Given the description of an element on the screen output the (x, y) to click on. 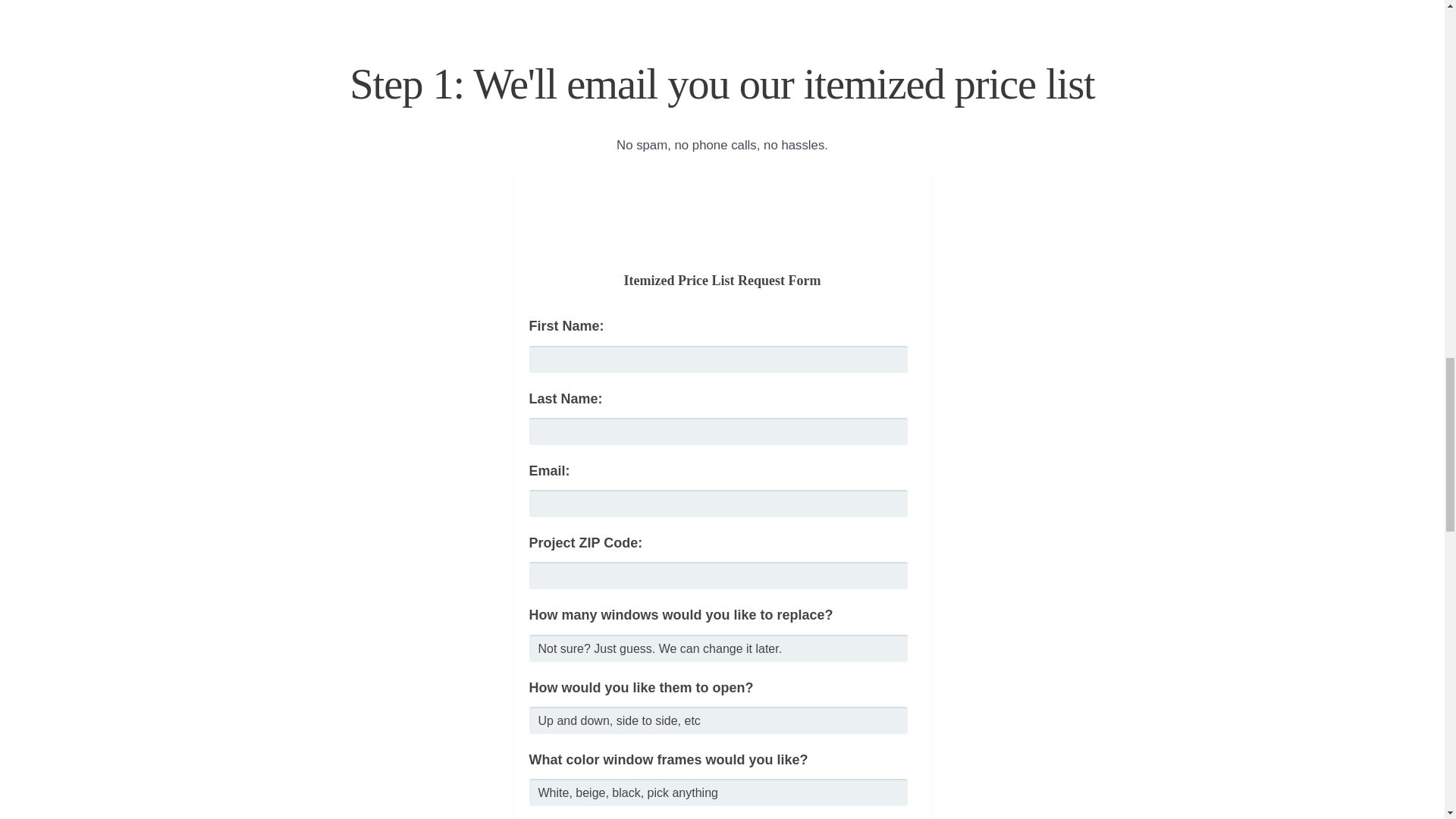
Not sure? Just guess. We can change it later. (718, 647)
White, beige, black, pick anything (718, 791)
Up and down, side to side, etc (718, 719)
